Given the description of an element on the screen output the (x, y) to click on. 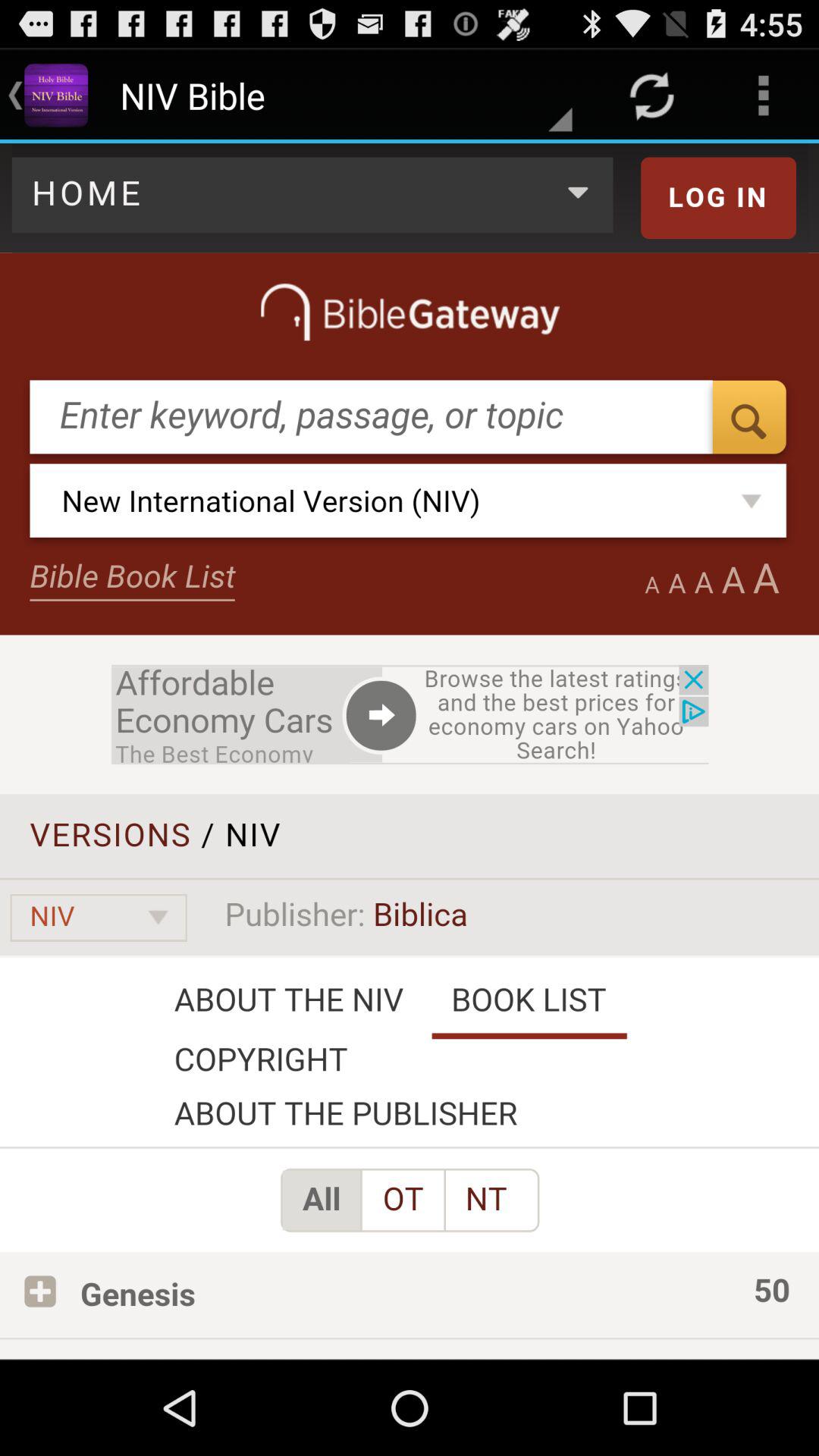
home page (409, 751)
